Given the description of an element on the screen output the (x, y) to click on. 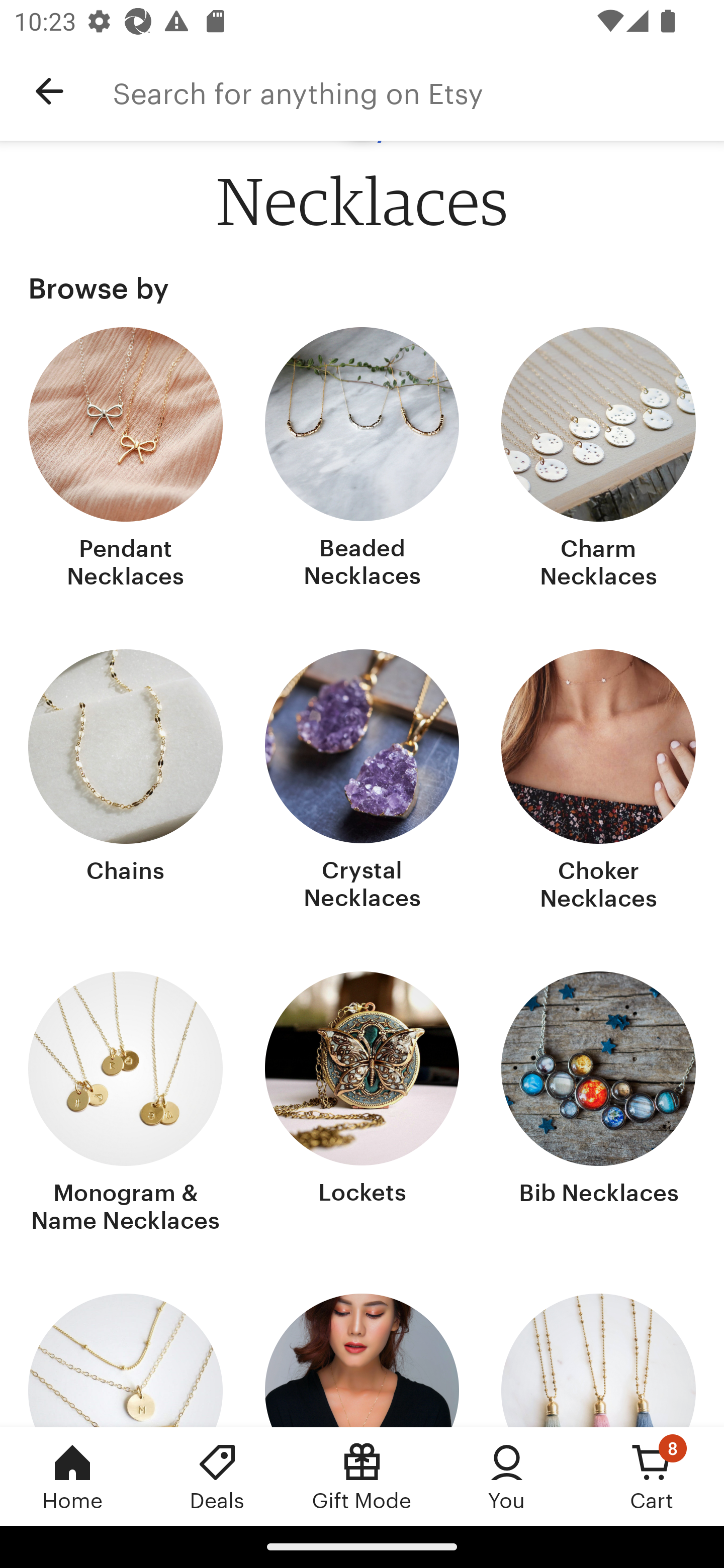
Navigate up (49, 91)
Search for anything on Etsy (418, 91)
Browse by (361, 288)
Pendant Necklaces (125, 459)
Beaded Necklaces (361, 459)
Charm Necklaces (598, 459)
Chains (125, 782)
Crystal Necklaces (361, 782)
Choker Necklaces (598, 782)
Monogram & Name Necklaces (125, 1104)
Lockets (361, 1104)
Bib Necklaces (598, 1104)
Multi-Strand Necklaces (125, 1359)
Lariat & Y Necklaces (361, 1359)
Tassel Necklaces (598, 1359)
Deals (216, 1475)
Gift Mode (361, 1475)
You (506, 1475)
Cart, 8 new notifications Cart (651, 1475)
